Given the description of an element on the screen output the (x, y) to click on. 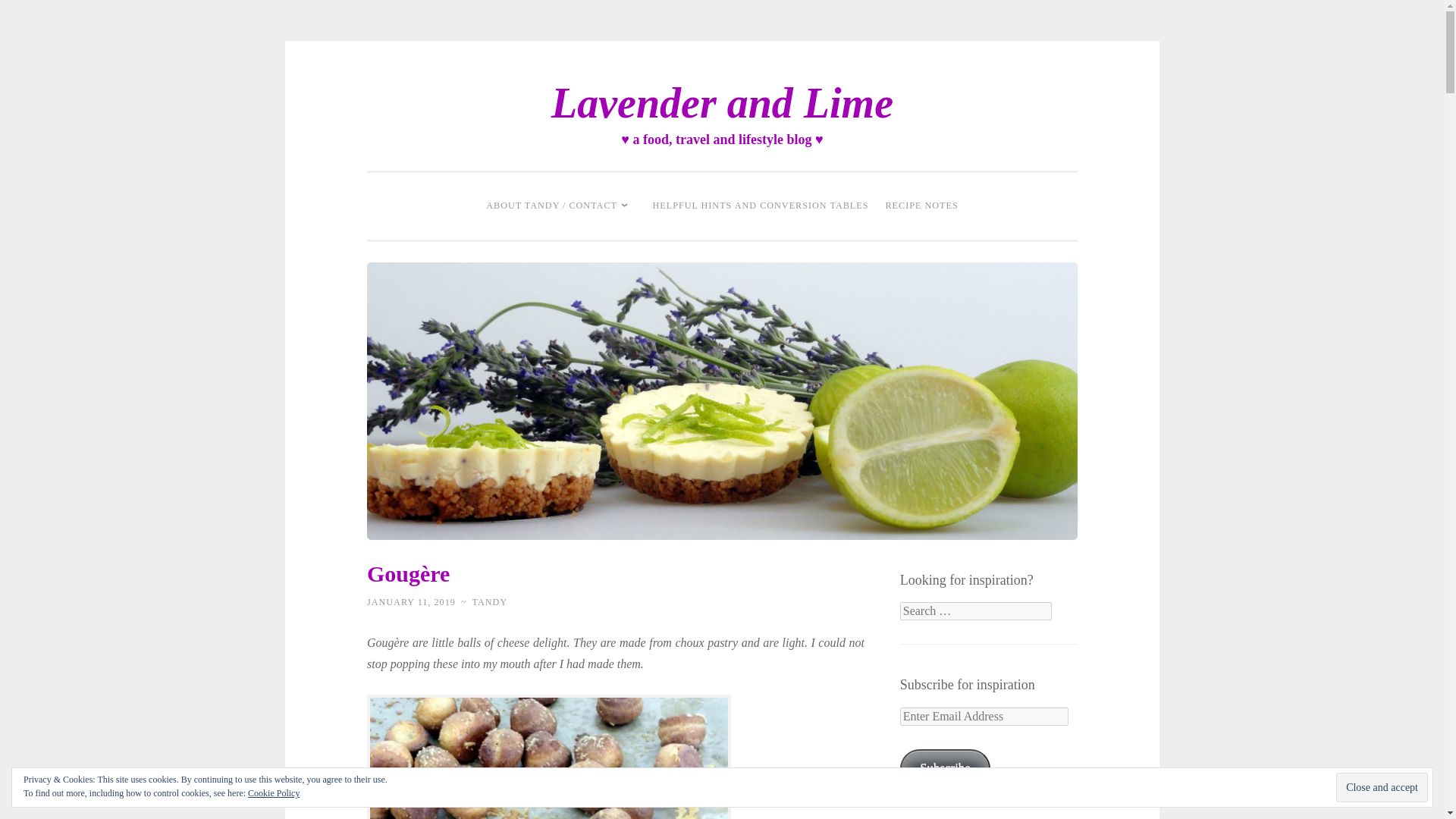
Close and accept (1382, 787)
JANUARY 11, 2019 (410, 602)
HELPFUL HINTS AND CONVERSION TABLES (761, 205)
TANDY (489, 602)
RECIPE NOTES (920, 205)
Lavender and Lime (722, 102)
